Given the description of an element on the screen output the (x, y) to click on. 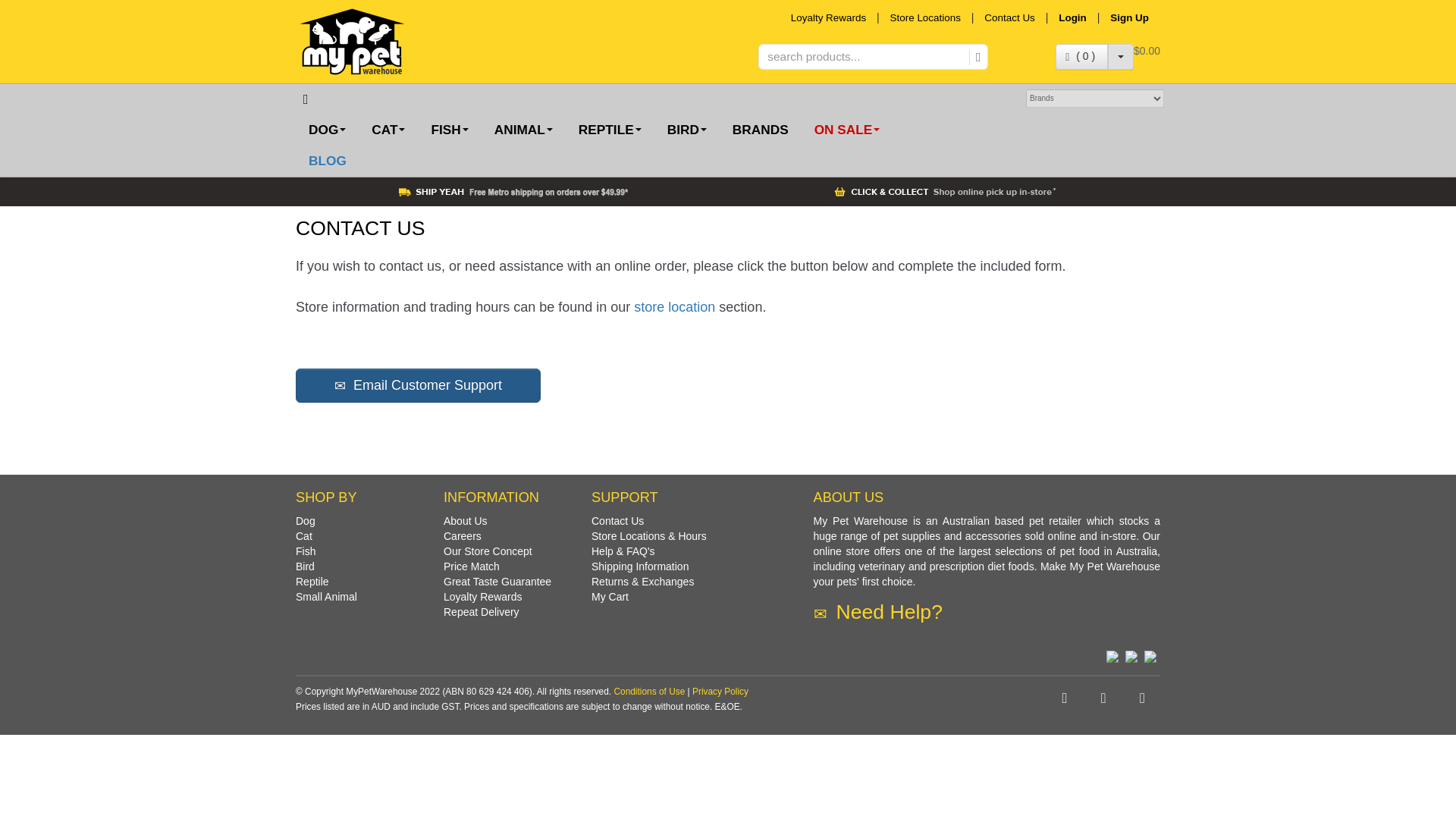
Login (1072, 17)
DOG (326, 129)
View Basket (1081, 56)
www.mypetwarehouse.com.au (395, 41)
View our store locations and trading hours (924, 17)
Store Locations (924, 17)
Learn about Pet Pals Rewards (828, 17)
Login to your account (1072, 17)
Sign Up (1132, 17)
Contact Us (1008, 17)
View Shopping Cart (1147, 50)
Get help from our support team (1008, 17)
Loyalty Rewards (828, 17)
Toggle Dropdown (1121, 56)
Create a new account (1132, 17)
